Given the description of an element on the screen output the (x, y) to click on. 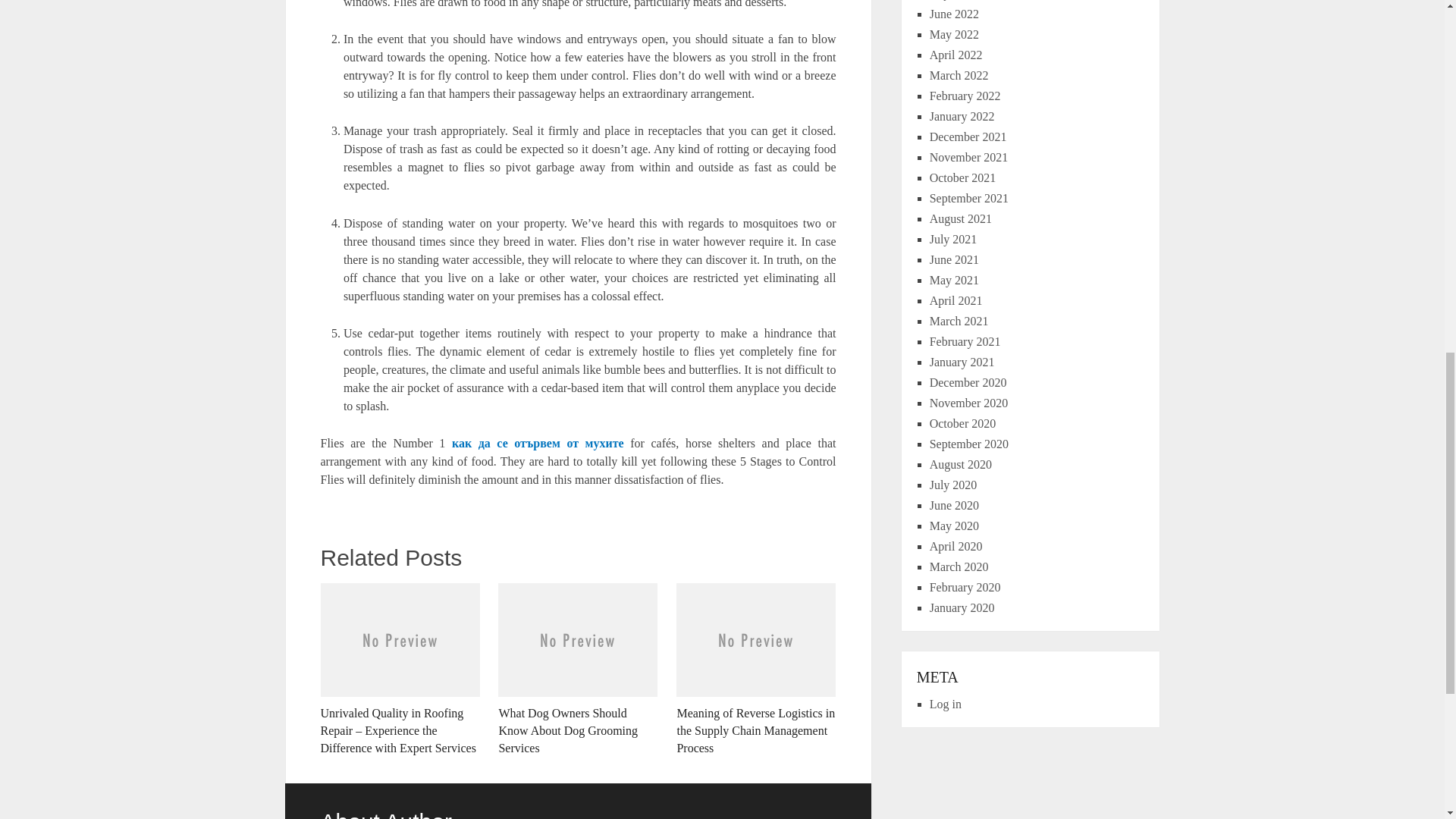
What Dog Owners Should Know About Dog Grooming Services (577, 669)
What Dog Owners Should Know About Dog Grooming Services (577, 669)
